Given the description of an element on the screen output the (x, y) to click on. 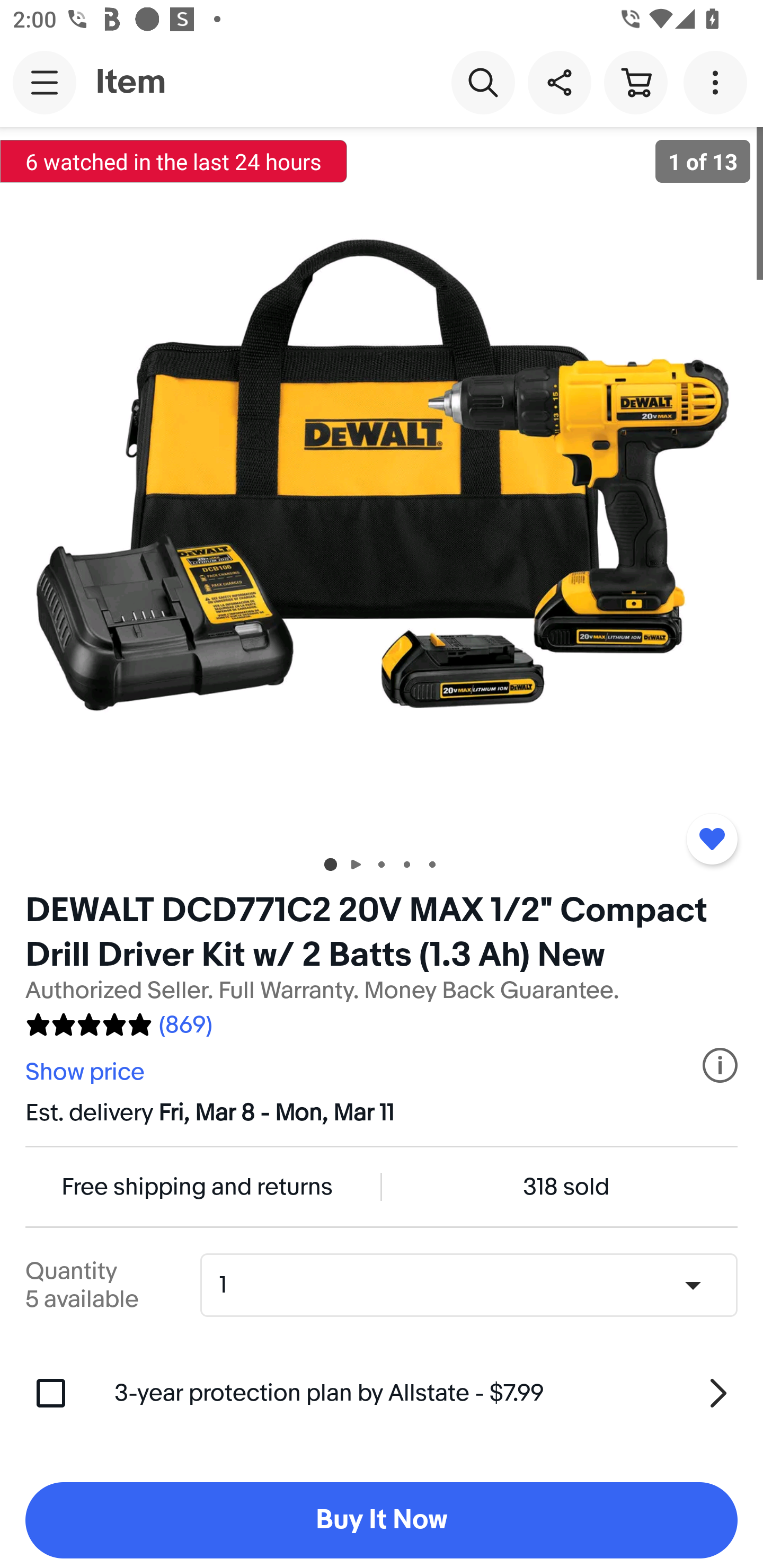
Main navigation, open (44, 82)
Search (482, 81)
Share this item (559, 81)
Cart button shopping cart (635, 81)
More options (718, 81)
Item image 1 of 13 (381, 482)
6 watched in the last 24 hours (173, 161)
Added to watchlist (711, 838)
More information (719, 1065)
Show price (87, 1072)
Quantity,1,5 available 1 (474, 1284)
3-year protection plan by Allstate - $7.99 (425, 1392)
Buy It Now (381, 1519)
